Given the description of an element on the screen output the (x, y) to click on. 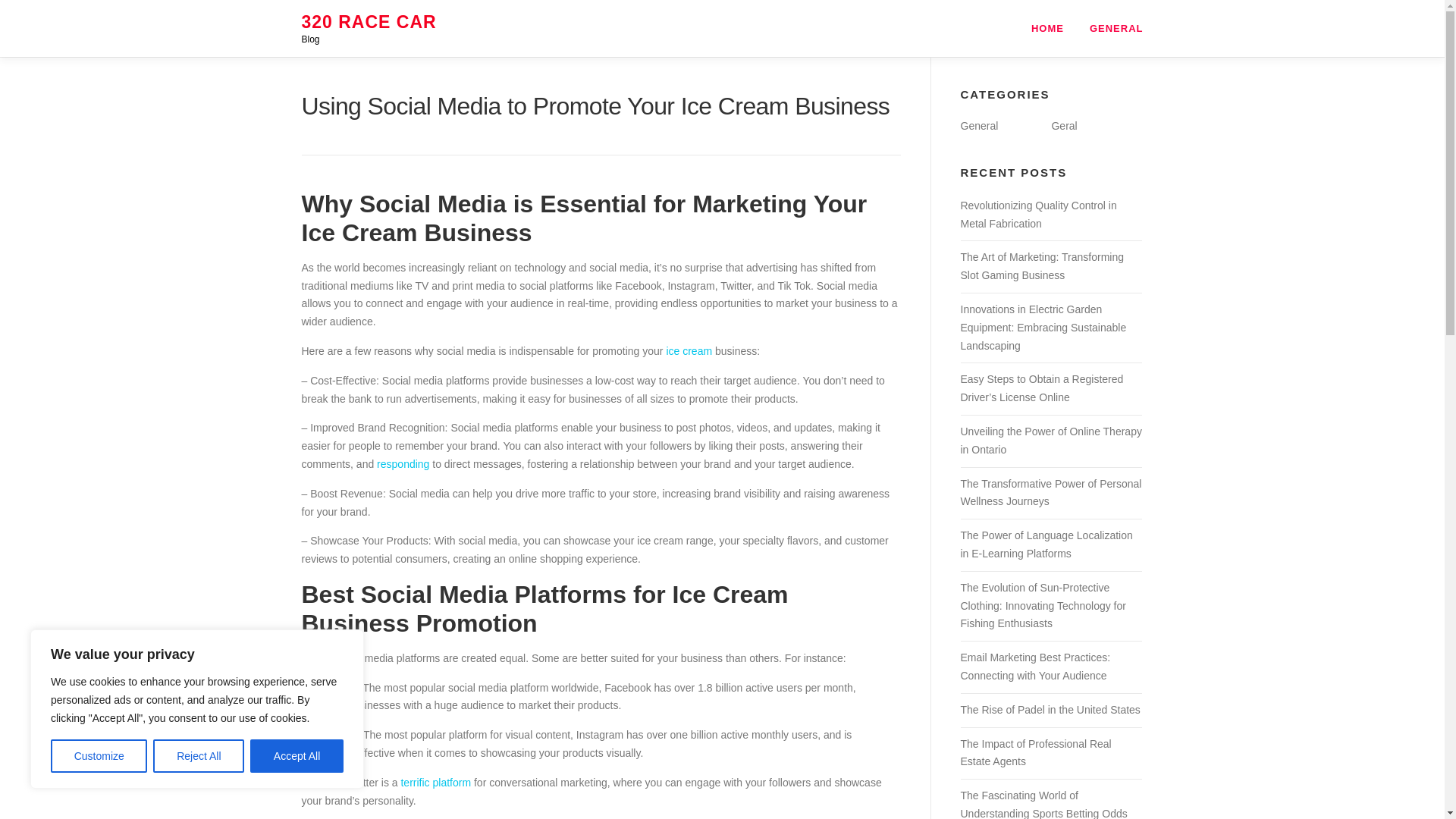
The Transformative Power of Personal Wellness Journeys (1050, 492)
Revolutionizing Quality Control in Metal Fabrication (1037, 214)
HOME (1047, 28)
320 RACE CAR (368, 21)
Geral (1064, 125)
ice cream (688, 350)
terrific platform (435, 782)
Unveiling the Power of Online Therapy in Ontario (1050, 440)
Accept All (296, 756)
General (978, 125)
Reject All (198, 756)
Customize (98, 756)
